Given the description of an element on the screen output the (x, y) to click on. 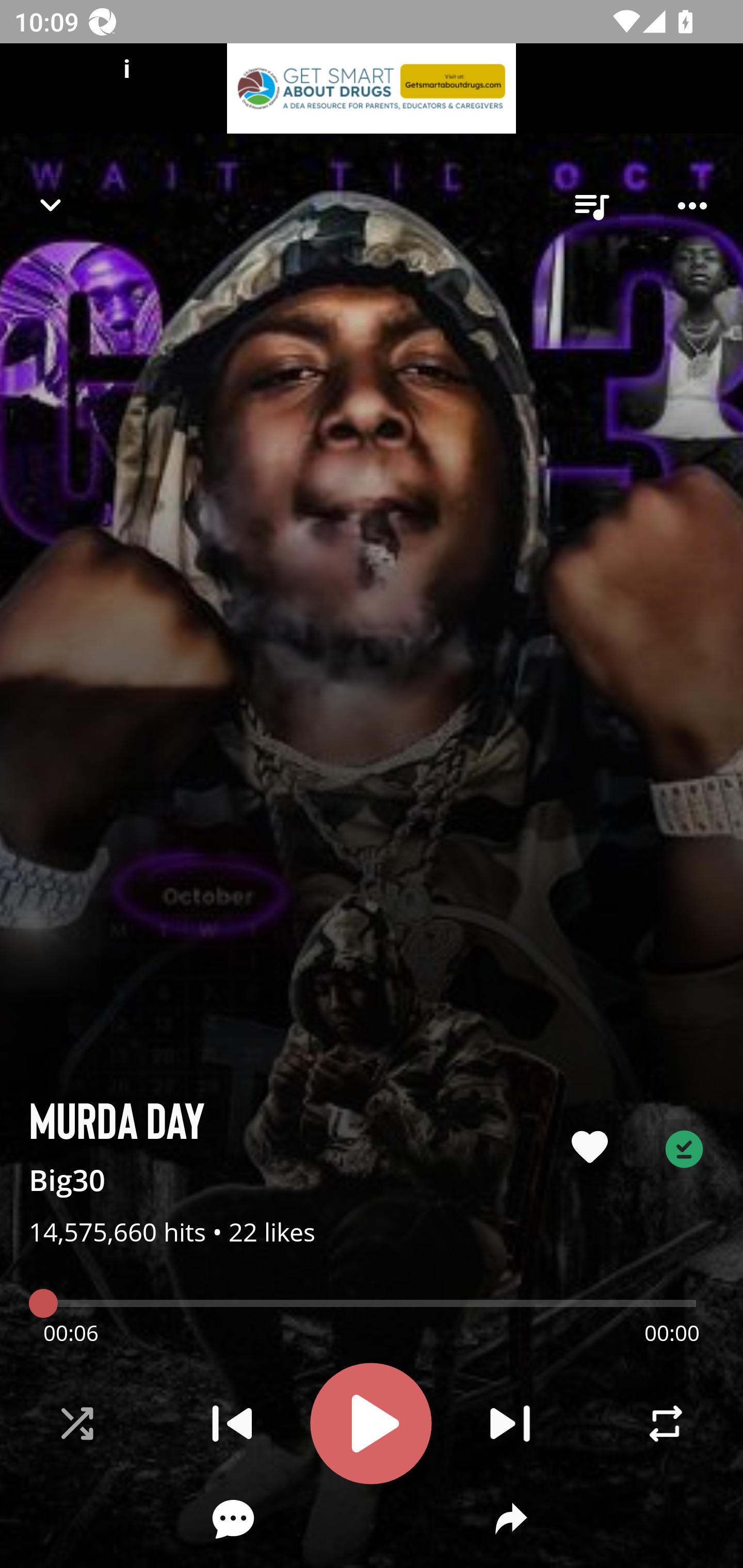
Navigate up (50, 205)
queue (590, 206)
Player options (692, 206)
